Given the description of an element on the screen output the (x, y) to click on. 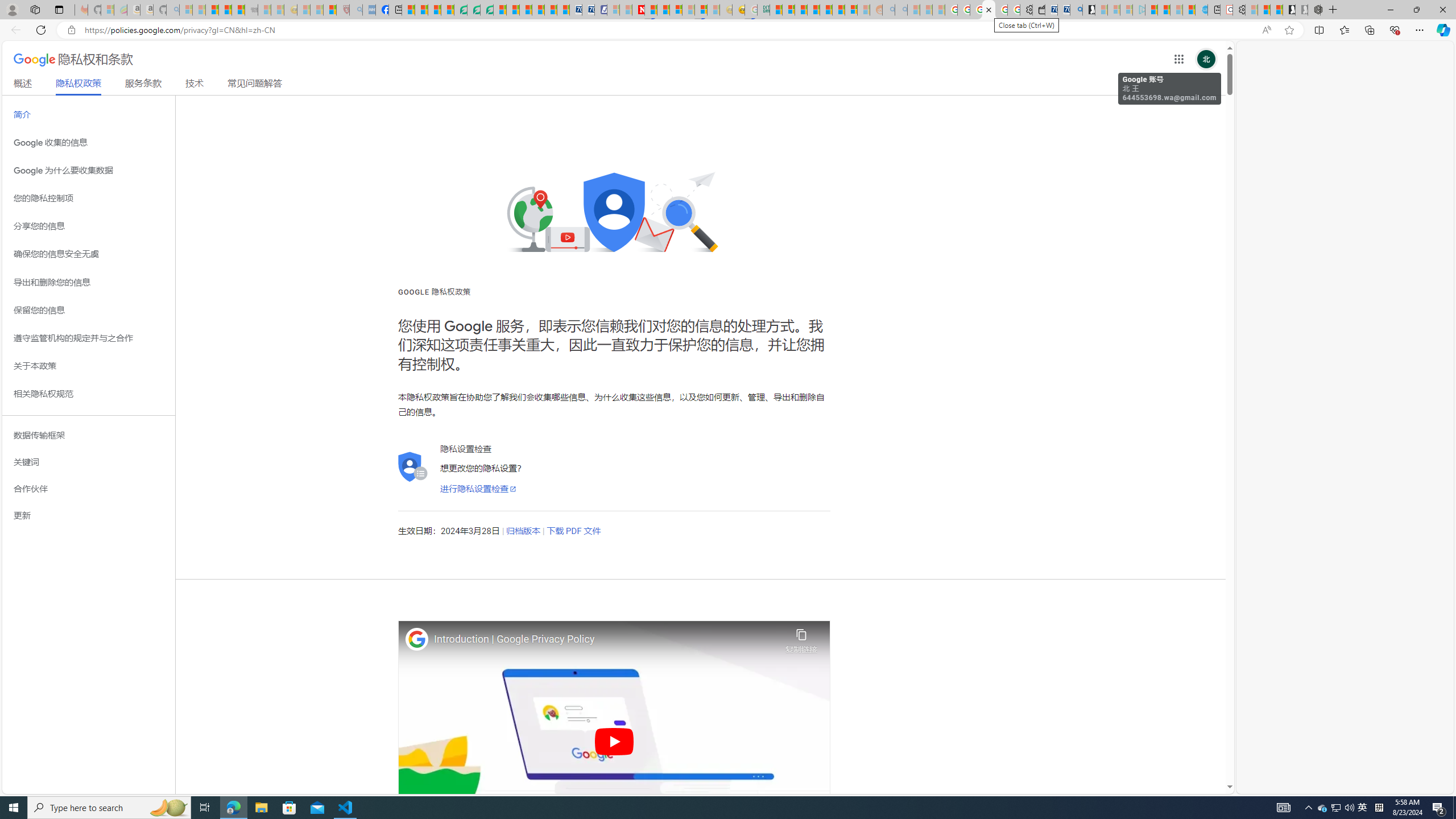
LendingTree - Compare Lenders (460, 9)
Cheap Hotels - Save70.com (587, 9)
